Given the description of an element on the screen output the (x, y) to click on. 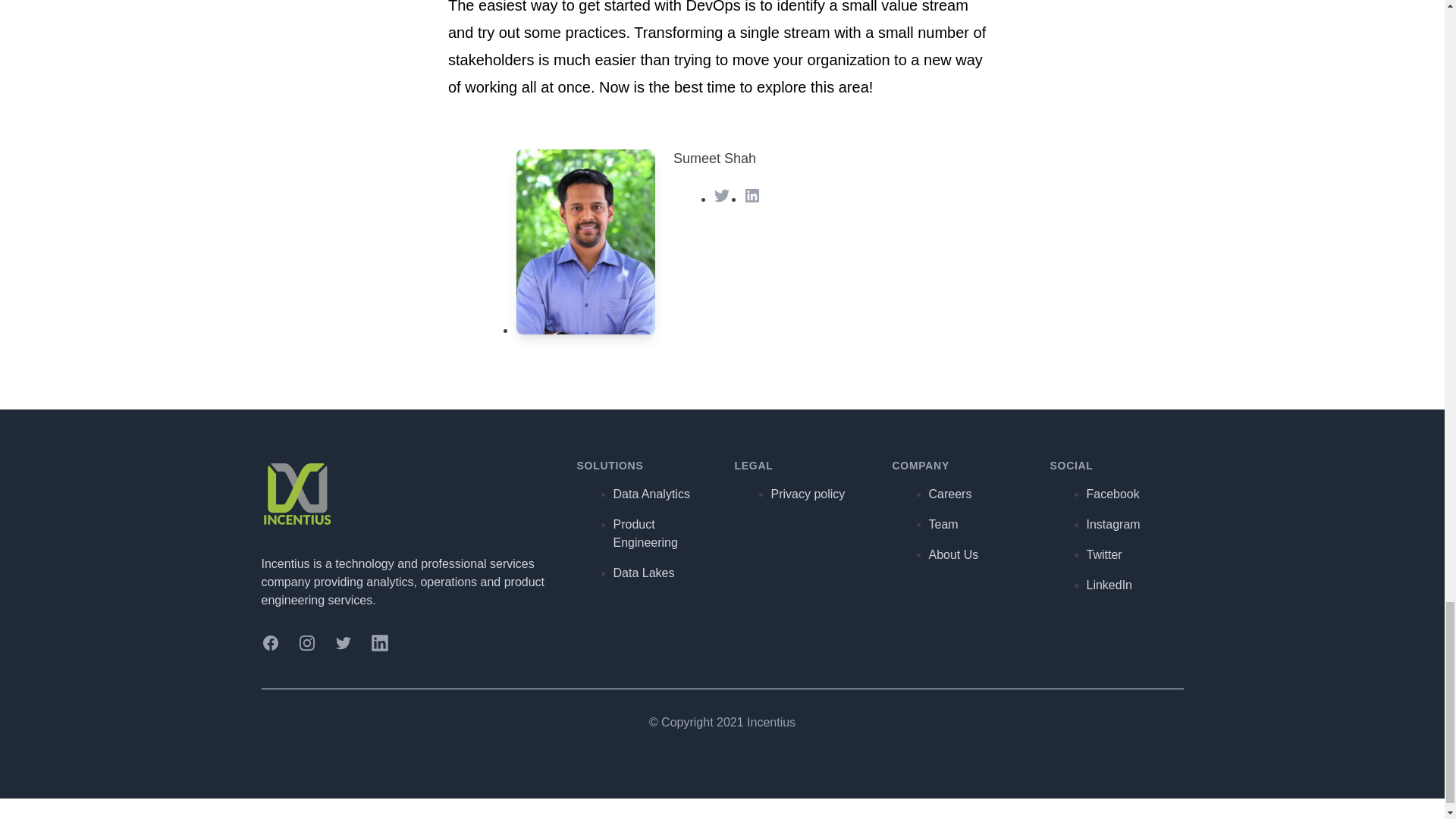
Twitter (721, 195)
Product Engineering (644, 532)
Instagram (306, 642)
Data Lakes (643, 572)
LinkedIn (752, 195)
Data Analytics (650, 493)
LinkedIn (378, 642)
Twitter (342, 642)
Facebook (269, 642)
